Given the description of an element on the screen output the (x, y) to click on. 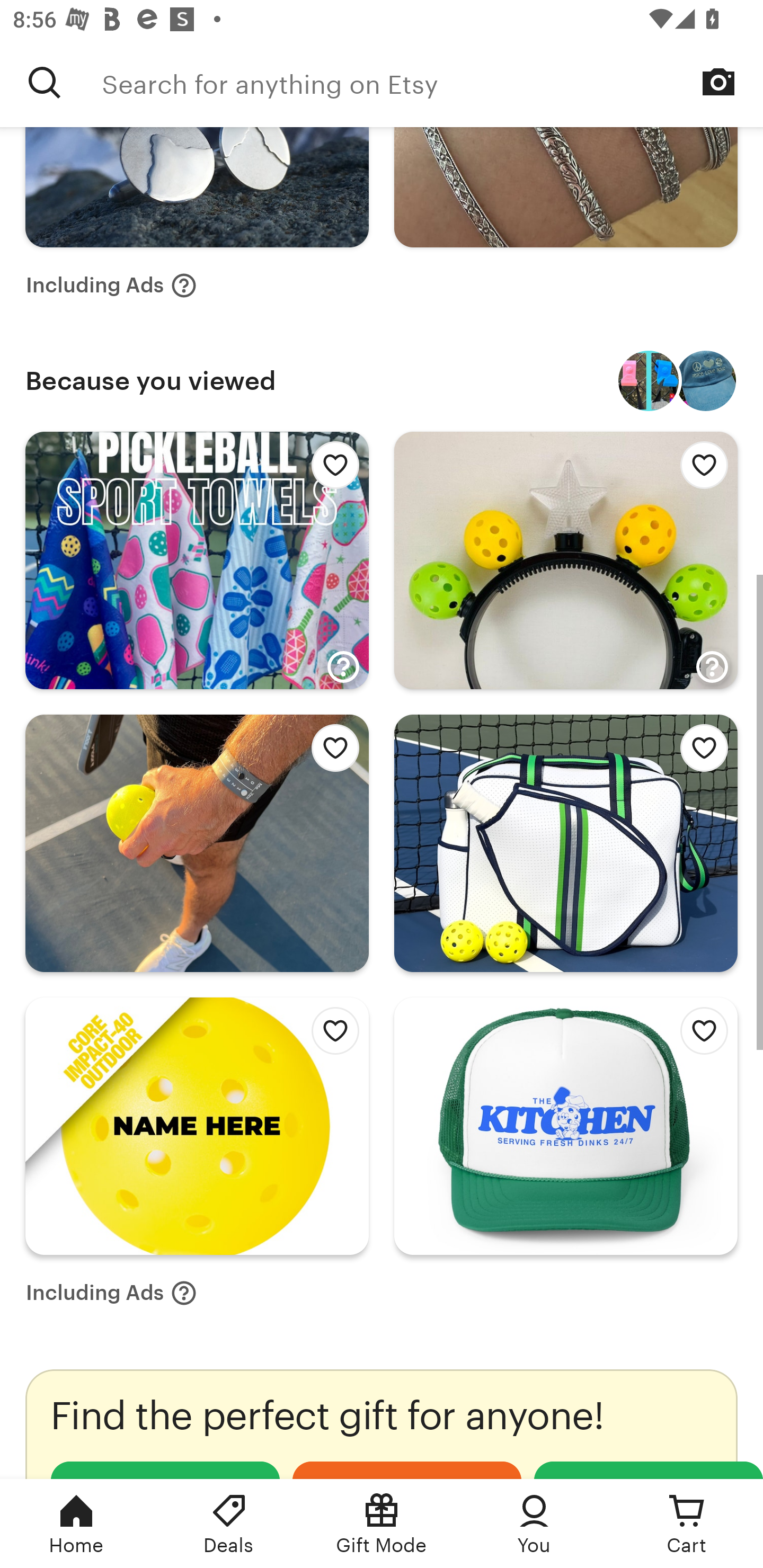
Search for anything on Etsy (44, 82)
Search by image (718, 81)
Search for anything on Etsy (432, 82)
Including Ads (111, 285)
Add Pickleball Score Band to favorites (330, 752)
Including Ads (111, 1292)
Find the perfect gift for anyone! (381, 1423)
Deals (228, 1523)
Gift Mode (381, 1523)
You (533, 1523)
Cart (686, 1523)
